Given the description of an element on the screen output the (x, y) to click on. 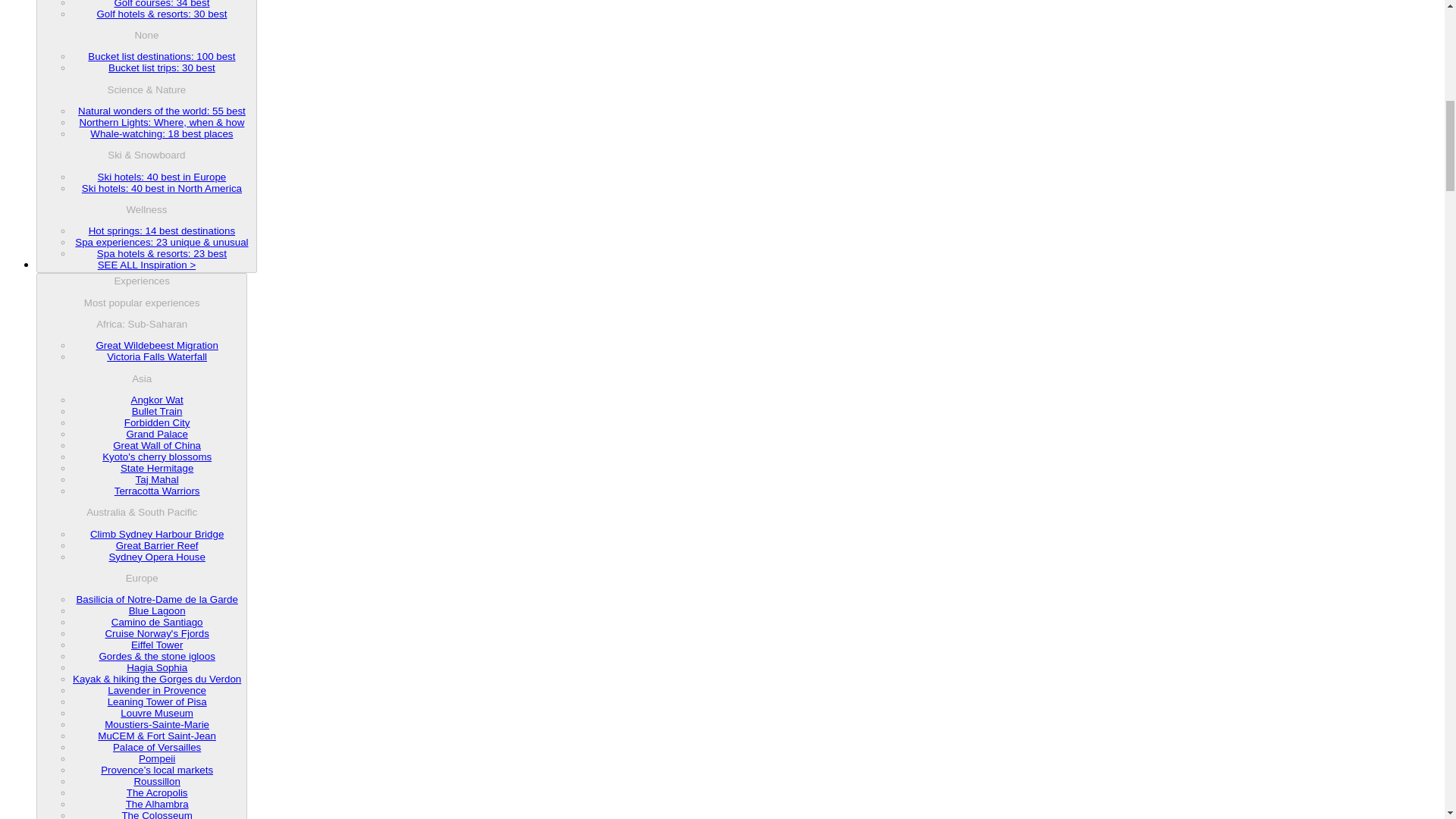
Golf courses: 34 best (161, 4)
Bucket list destinations: 100 best (160, 56)
Bucket list trips: 30 best (161, 67)
